Given the description of an element on the screen output the (x, y) to click on. 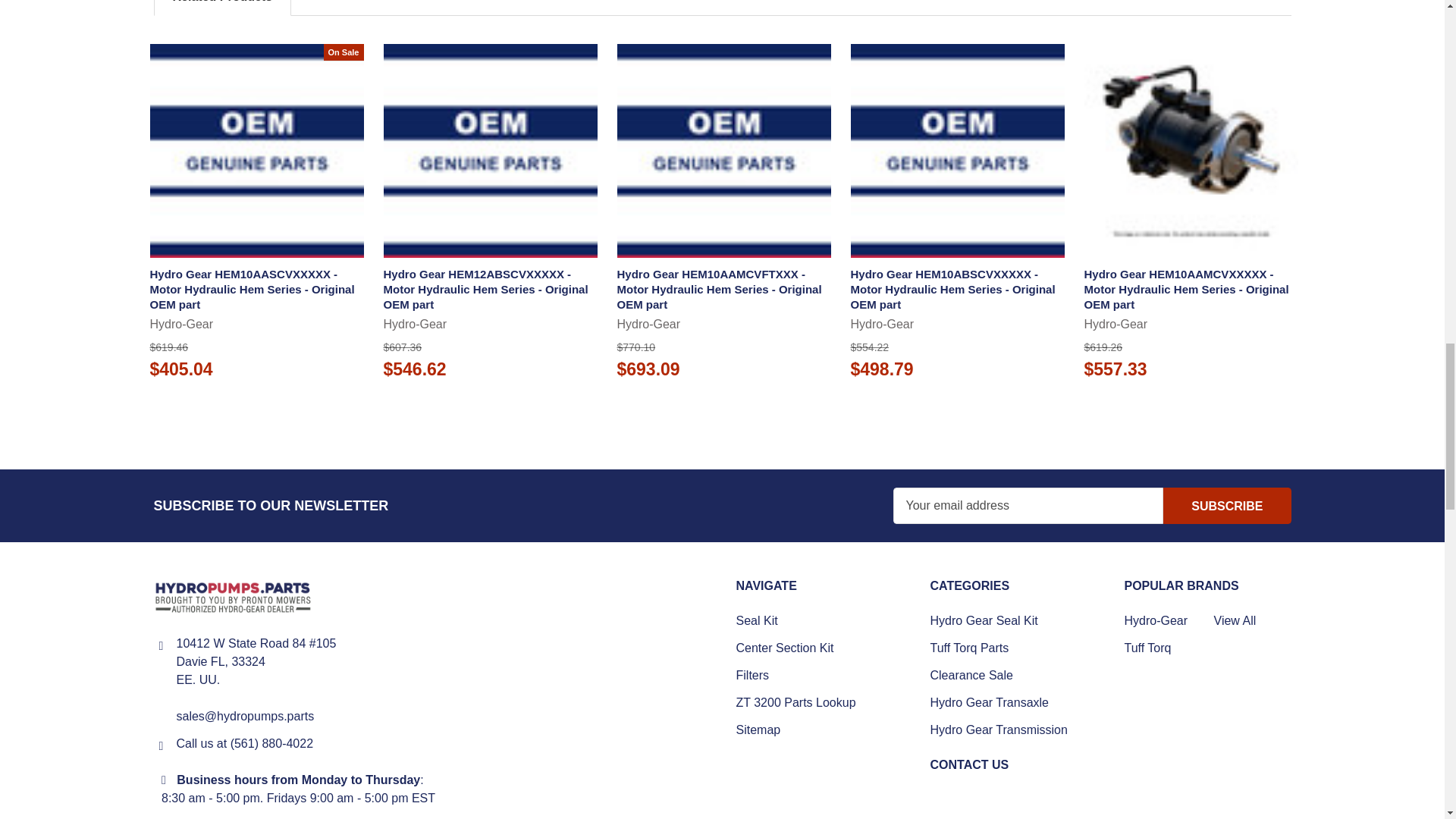
HYDRO PUMPS PARTS (232, 597)
Hydro Gear HEM10AAMCVXXXXX - Motor Hydraulic HEM Series (1191, 150)
Subscribe (1226, 505)
